Given the description of an element on the screen output the (x, y) to click on. 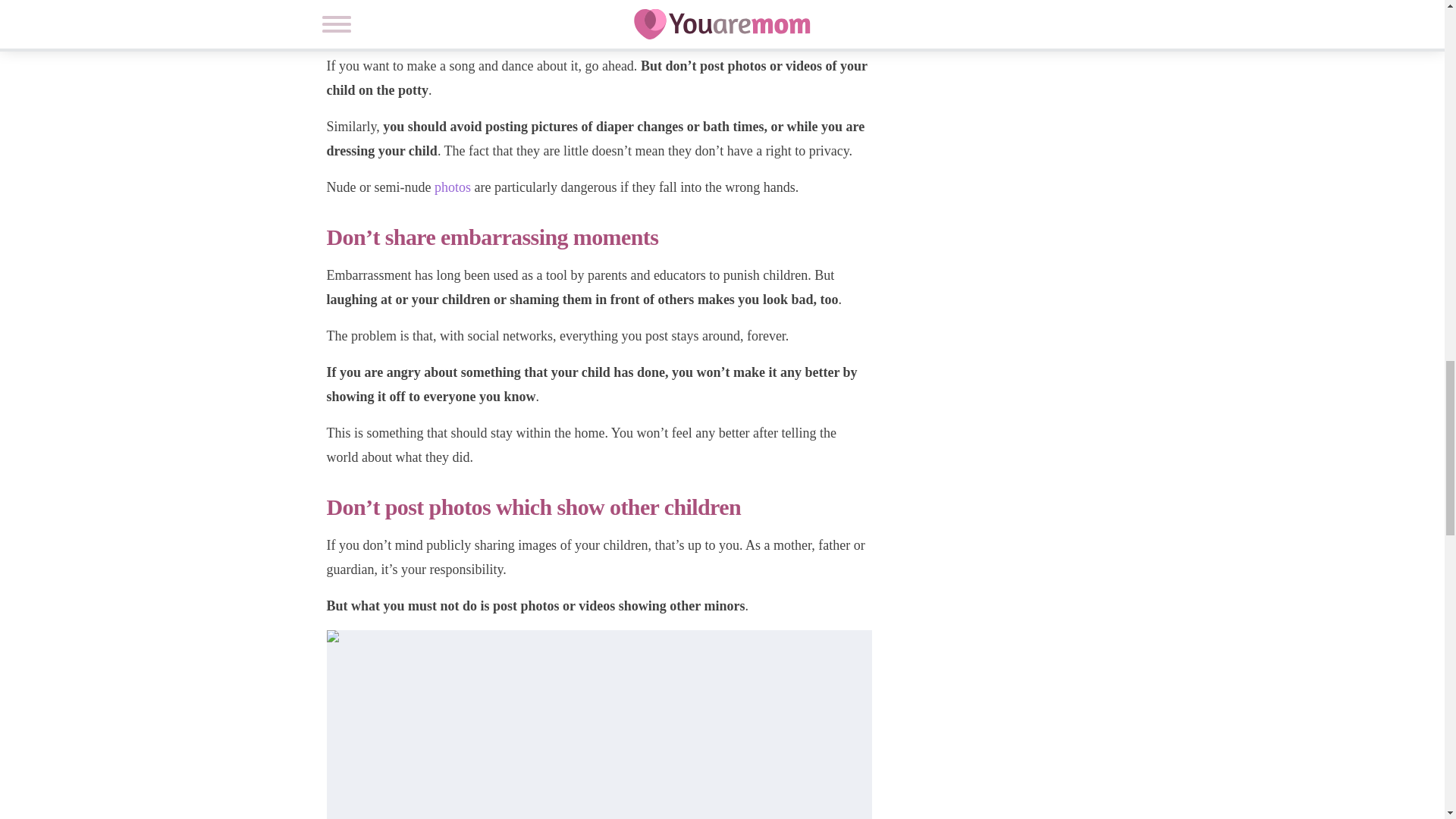
photos (453, 186)
